Given the description of an element on the screen output the (x, y) to click on. 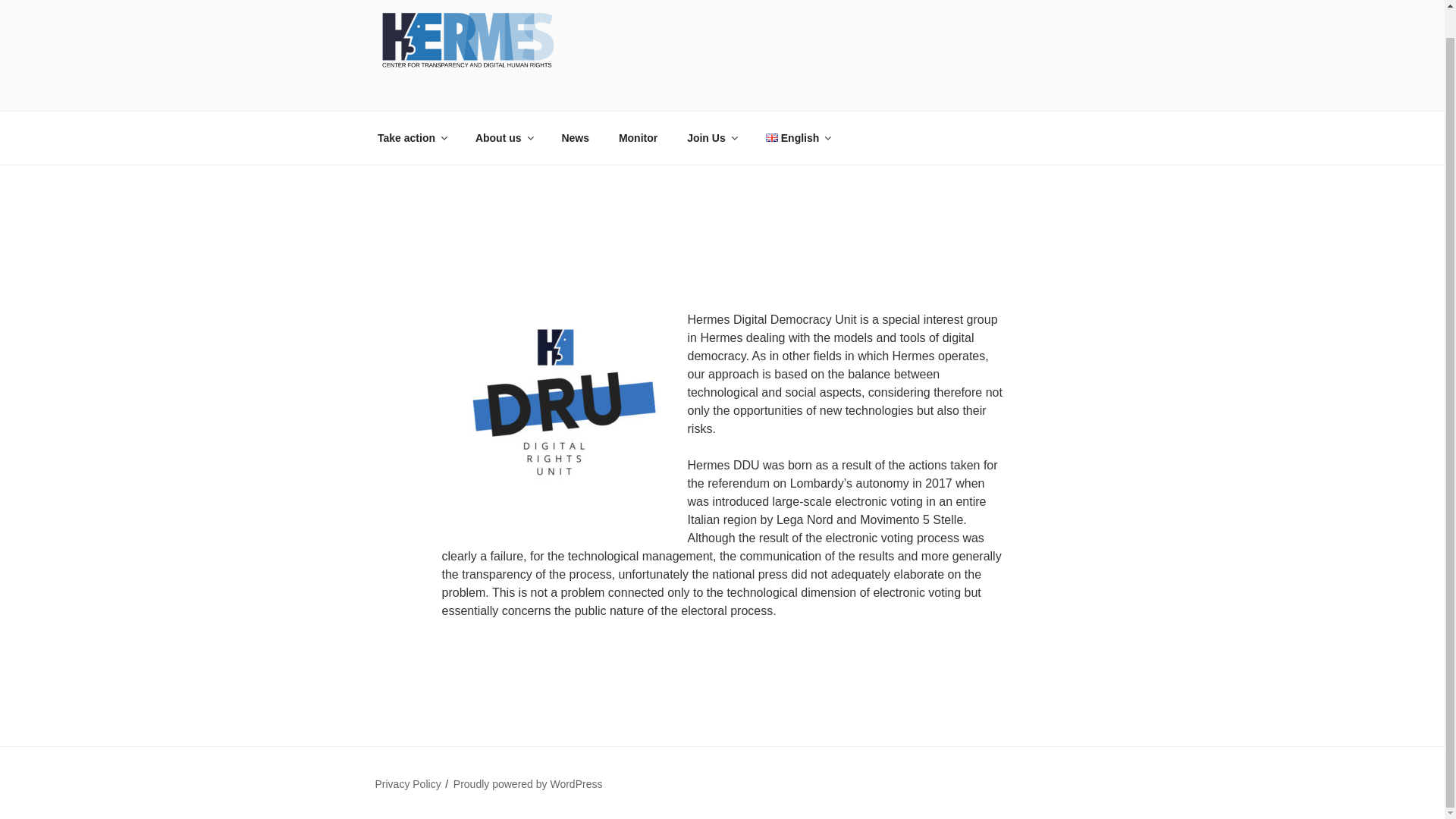
About us (502, 137)
English (797, 137)
Join Us (711, 137)
News (575, 137)
Monitor (637, 137)
HERMES CENTER (510, 91)
Take action (411, 137)
Privacy Policy (407, 784)
Proudly powered by WordPress (527, 784)
